Given the description of an element on the screen output the (x, y) to click on. 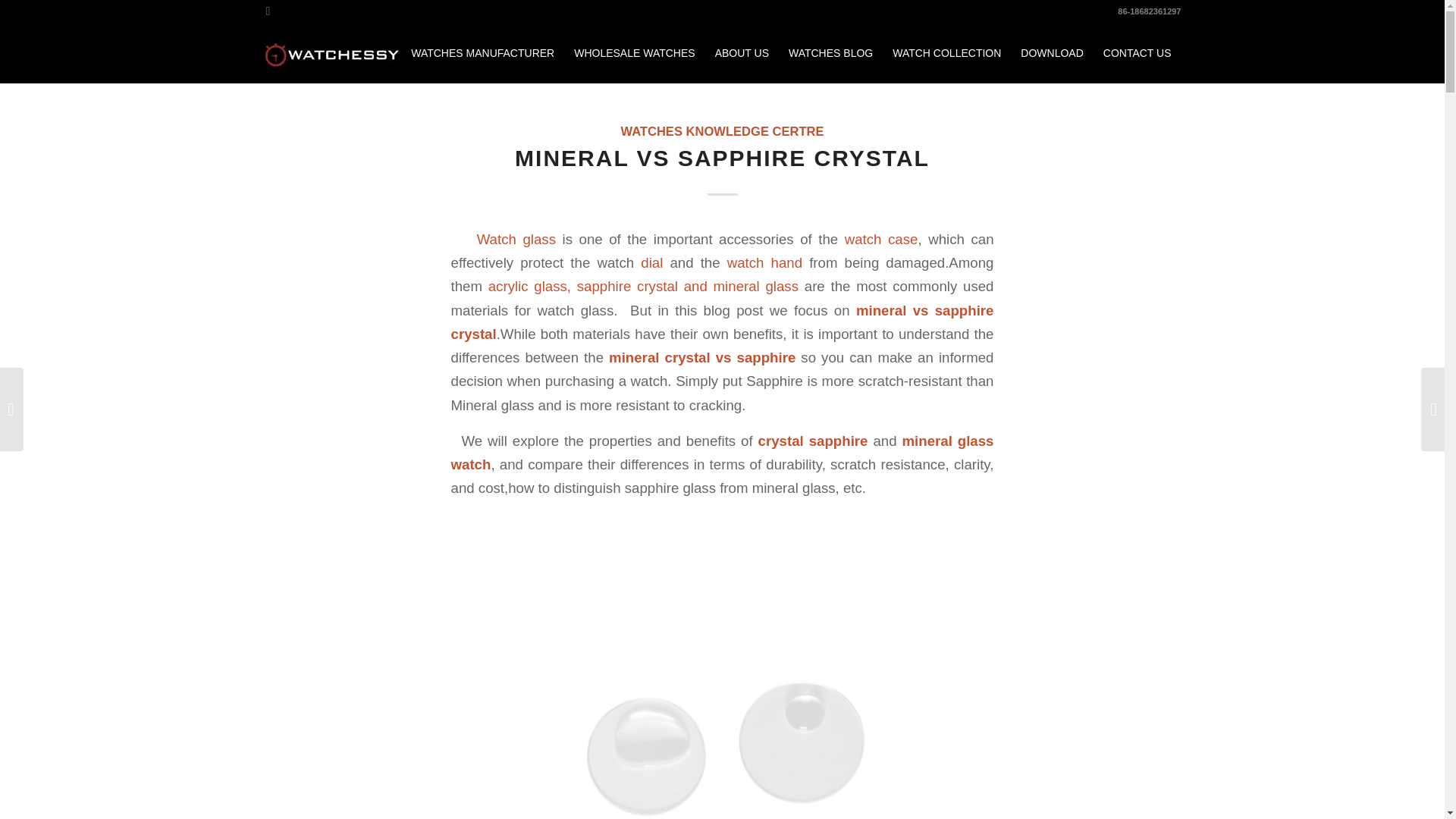
WATCHES MANUFACTURER (482, 52)
ABOUT US (741, 52)
86-18682361297 (1149, 10)
WATCHES BLOG (830, 52)
Instagram (267, 11)
WHOLESALE WATCHES (634, 52)
WATCH COLLECTION (946, 52)
